Given the description of an element on the screen output the (x, y) to click on. 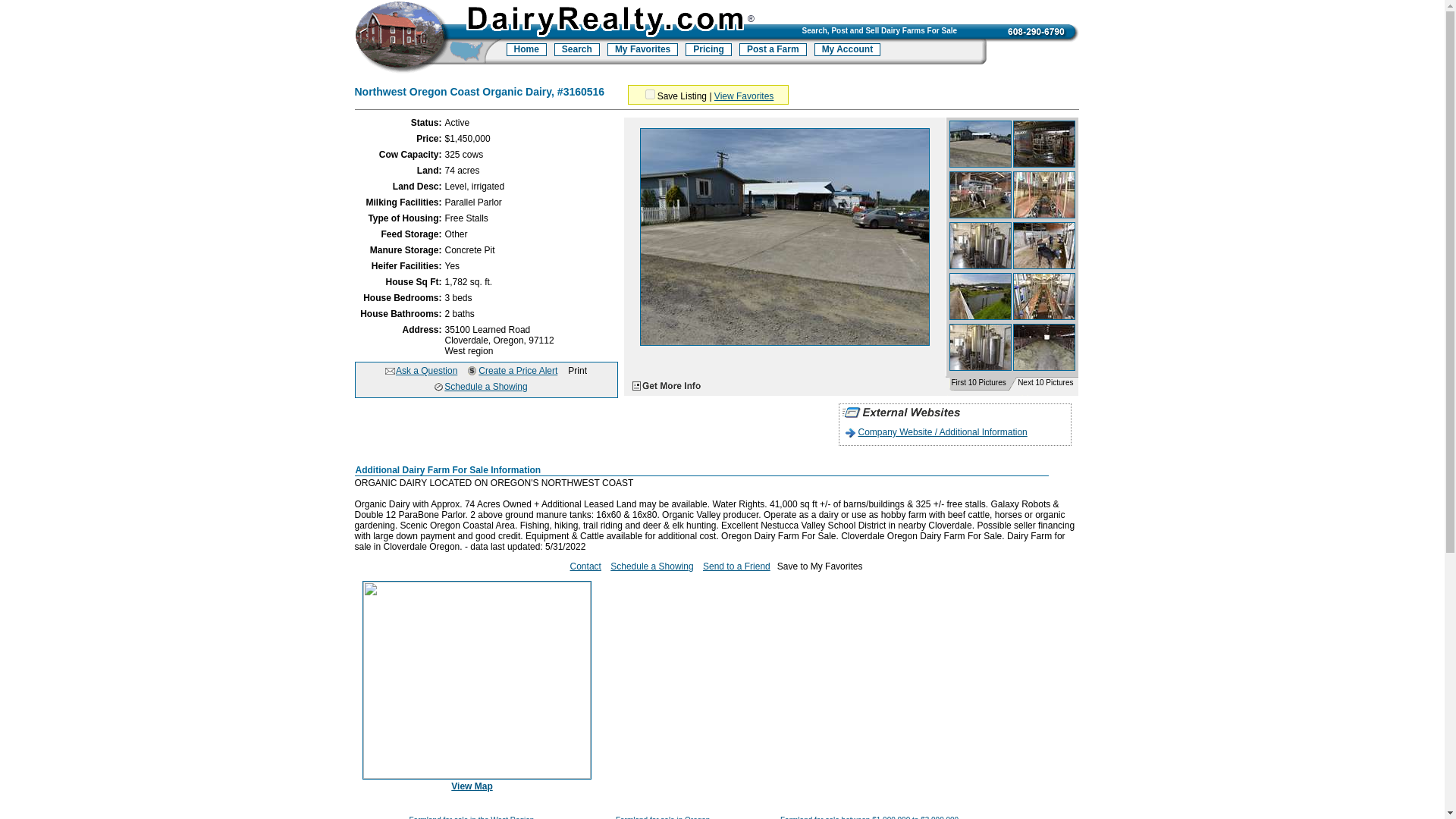
My Favorites (642, 49)
West region (468, 350)
Post a Farm (772, 49)
Home (526, 49)
Create a Price Alert (517, 370)
My Account (846, 49)
Search (576, 49)
on (650, 94)
Schedule a Showing (485, 386)
View Larger Photo (785, 342)
Dairy Realty - Find dairy farms for sale (428, 39)
Print (576, 370)
First 10 Pictures (976, 382)
Ask a Question (426, 370)
View Favorites (743, 95)
